Given the description of an element on the screen output the (x, y) to click on. 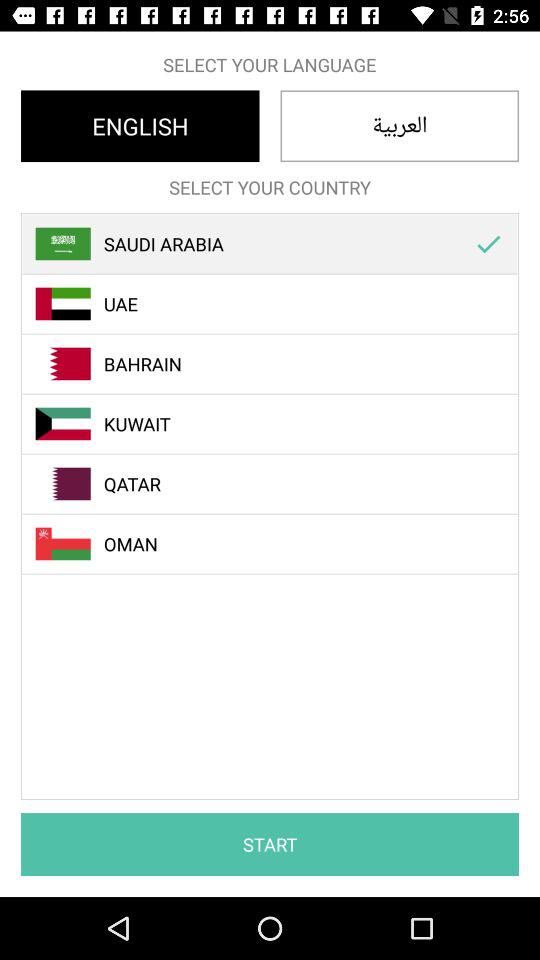
select the item below select your language (399, 126)
